Given the description of an element on the screen output the (x, y) to click on. 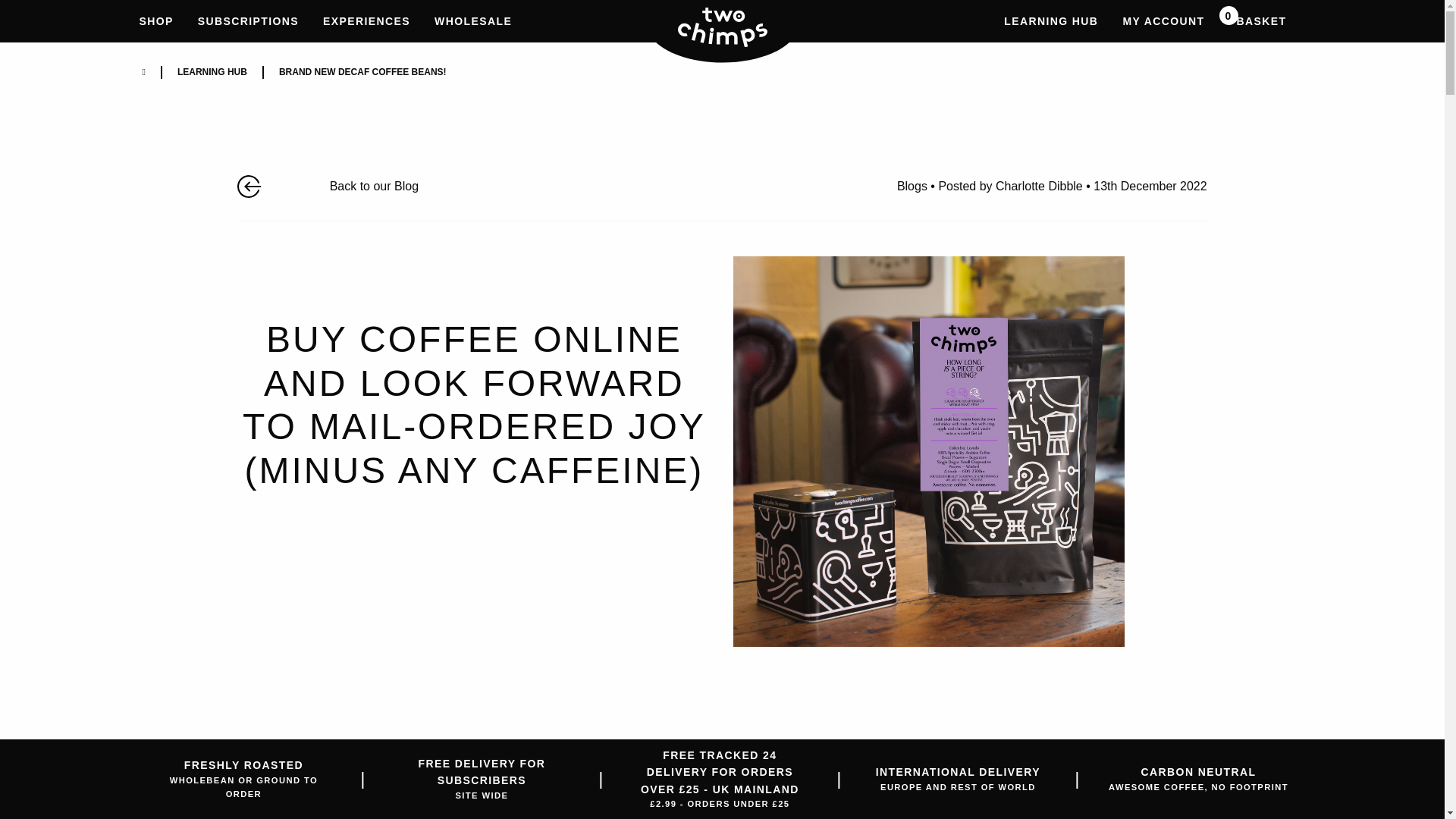
WHOLESALE (473, 21)
SUBSCRIPTIONS (248, 21)
LEARNING HUB (1050, 21)
Two Chimps Coffee (1261, 21)
EXPERIENCES (722, 26)
SHOP (366, 21)
MY ACCOUNT (157, 21)
